Given the description of an element on the screen output the (x, y) to click on. 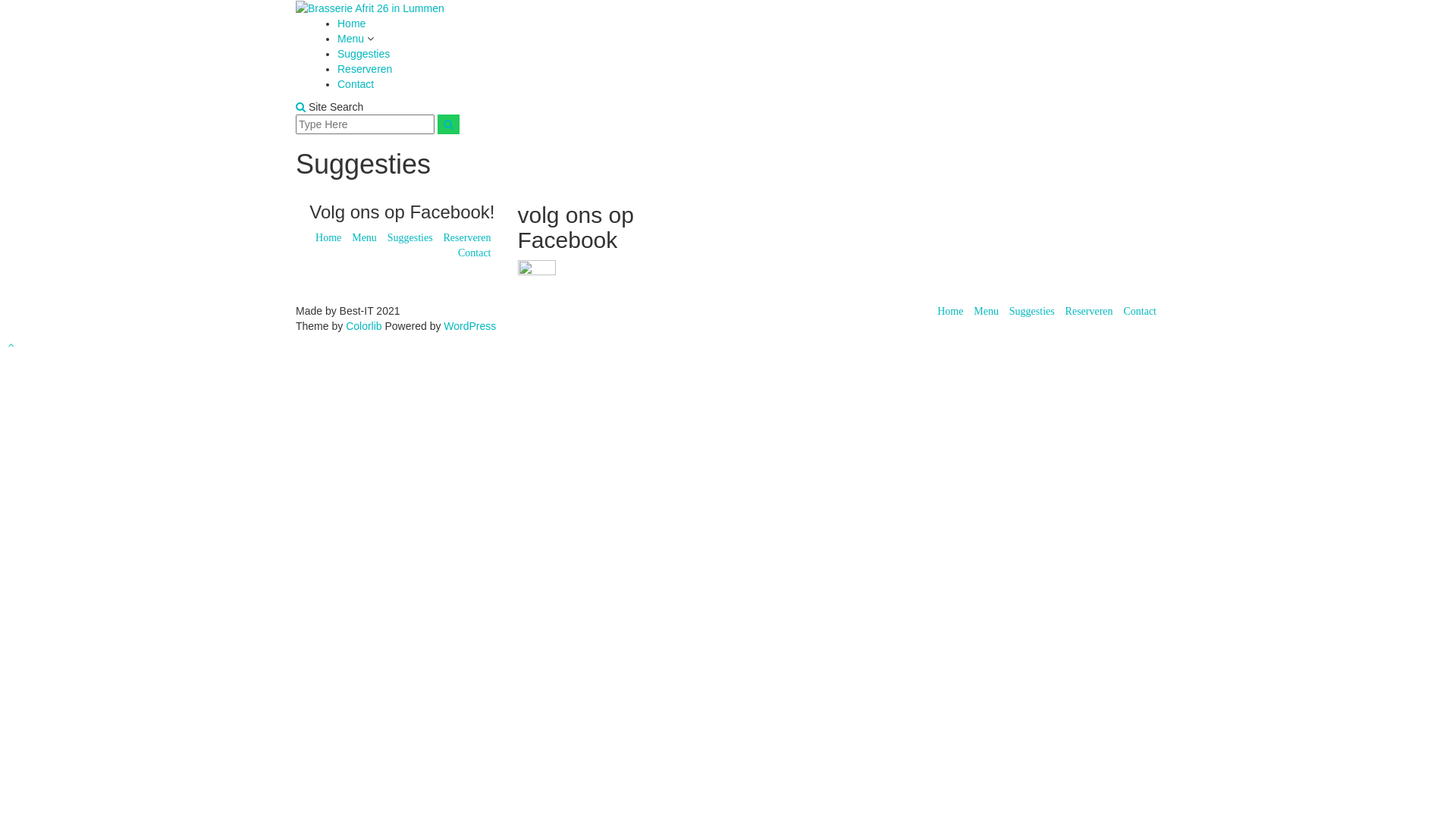
volg ons op Facebook Element type: hover (536, 281)
Search Element type: text (448, 124)
Contact Element type: text (474, 252)
Contact Element type: text (1139, 310)
Menu Element type: text (985, 310)
WordPress Element type: text (469, 326)
Reserveren Element type: text (1089, 310)
Home Element type: text (351, 23)
Colorlib Element type: text (363, 326)
Reserveren Element type: text (467, 237)
Home Element type: text (950, 310)
Contact Element type: text (355, 84)
Menu Element type: text (363, 237)
Reserveren Element type: text (364, 68)
Home Element type: text (328, 237)
Suggesties Element type: text (363, 53)
Menu Element type: text (352, 38)
Suggesties Element type: text (410, 237)
Suggesties Element type: text (1031, 310)
